Given the description of an element on the screen output the (x, y) to click on. 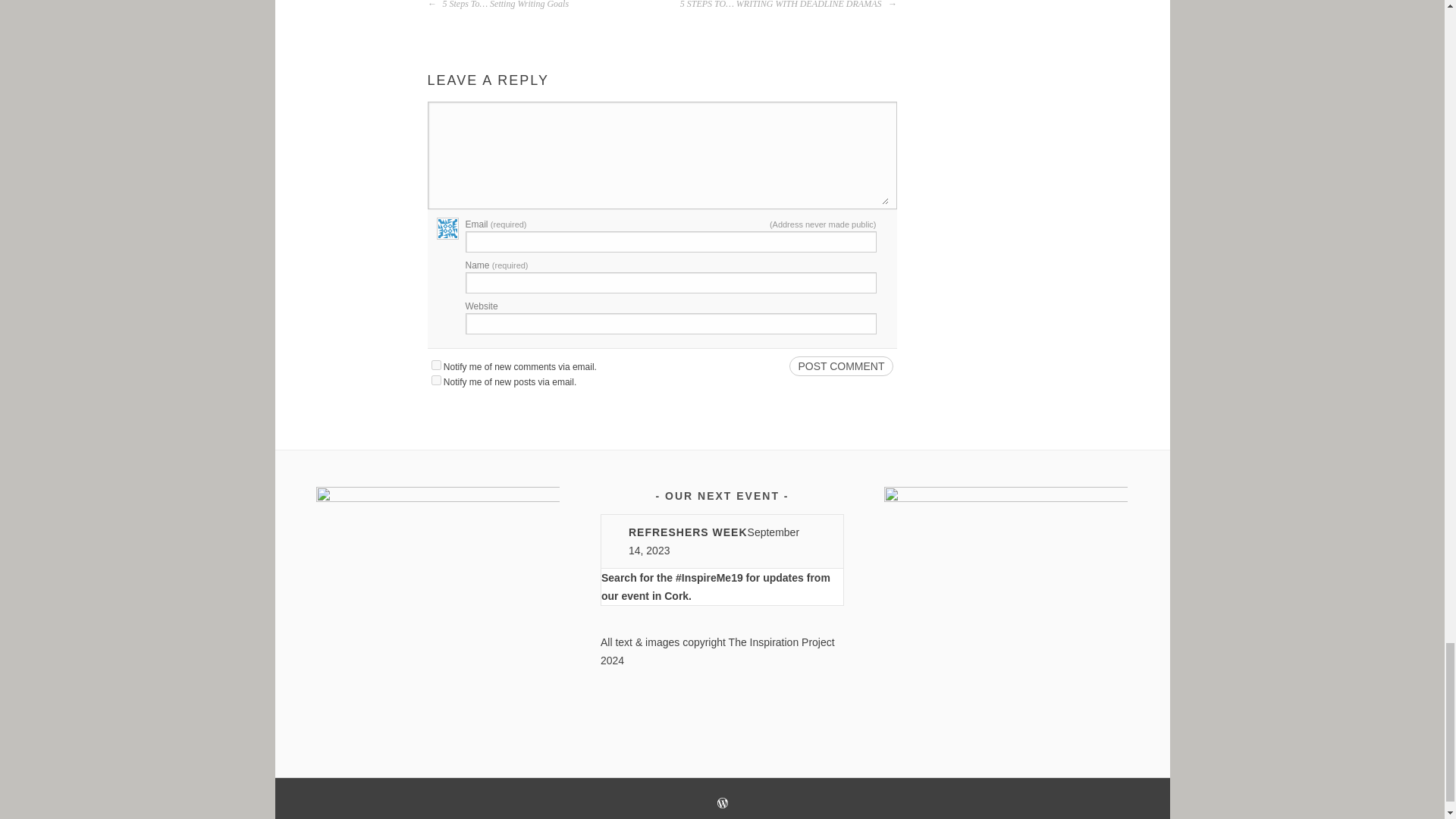
Enter your comment here... (661, 156)
Post Comment (840, 365)
CREATE A WEBSITE OR BLOG AT WORDPRESS.COM (722, 804)
subscribe (435, 379)
Post Comment (840, 365)
Create a website or blog at WordPress.com (722, 804)
subscribe (435, 365)
CREATE A WEBSITE OR BLOG AT WORDPRESS.COM (722, 802)
